Given the description of an element on the screen output the (x, y) to click on. 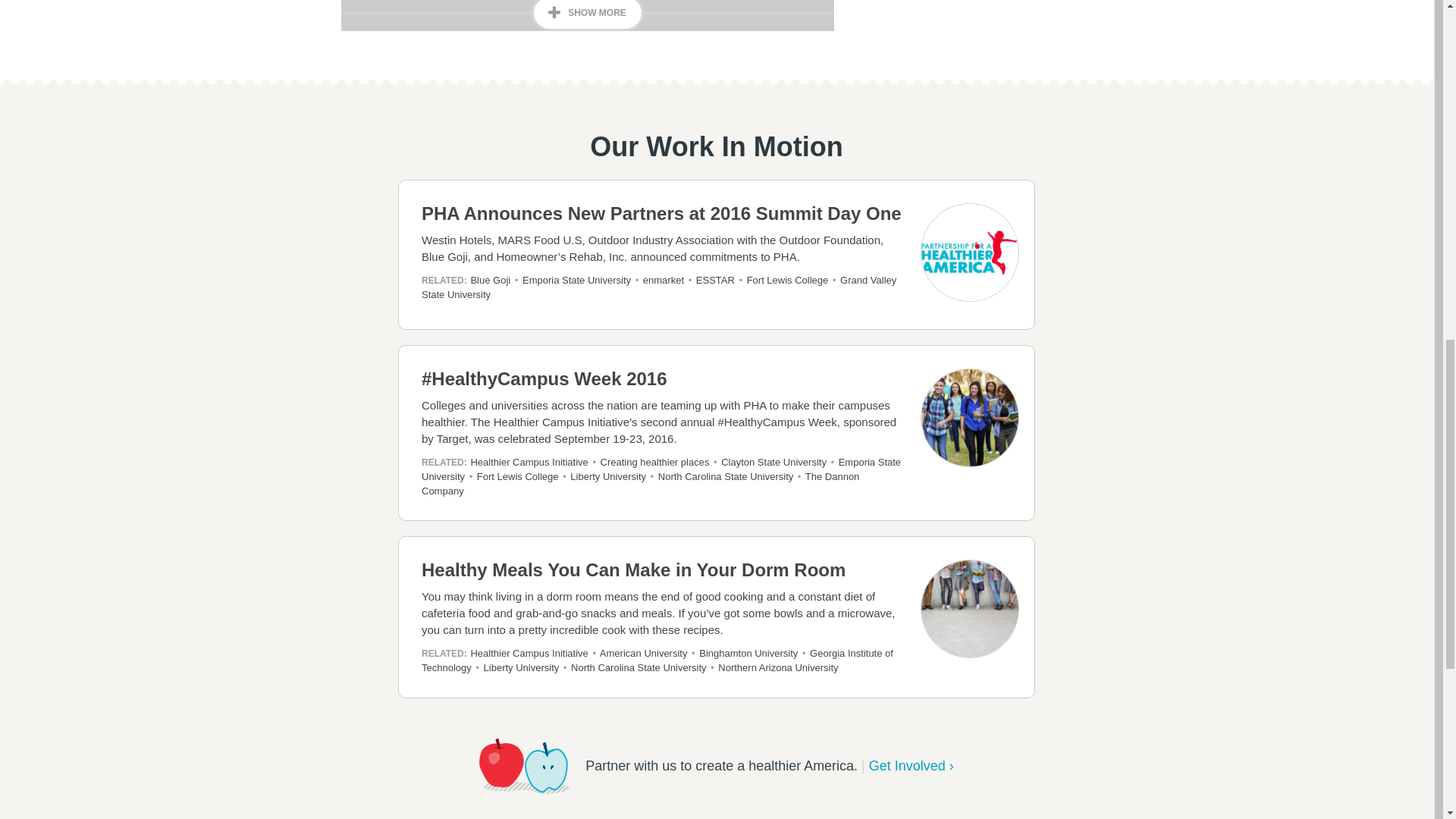
PHA Announces New Partners at 2016 Summit Day One (720, 213)
Blue Goji (490, 279)
SHOW MORE (587, 15)
Emporia State University (576, 279)
